Given the description of an element on the screen output the (x, y) to click on. 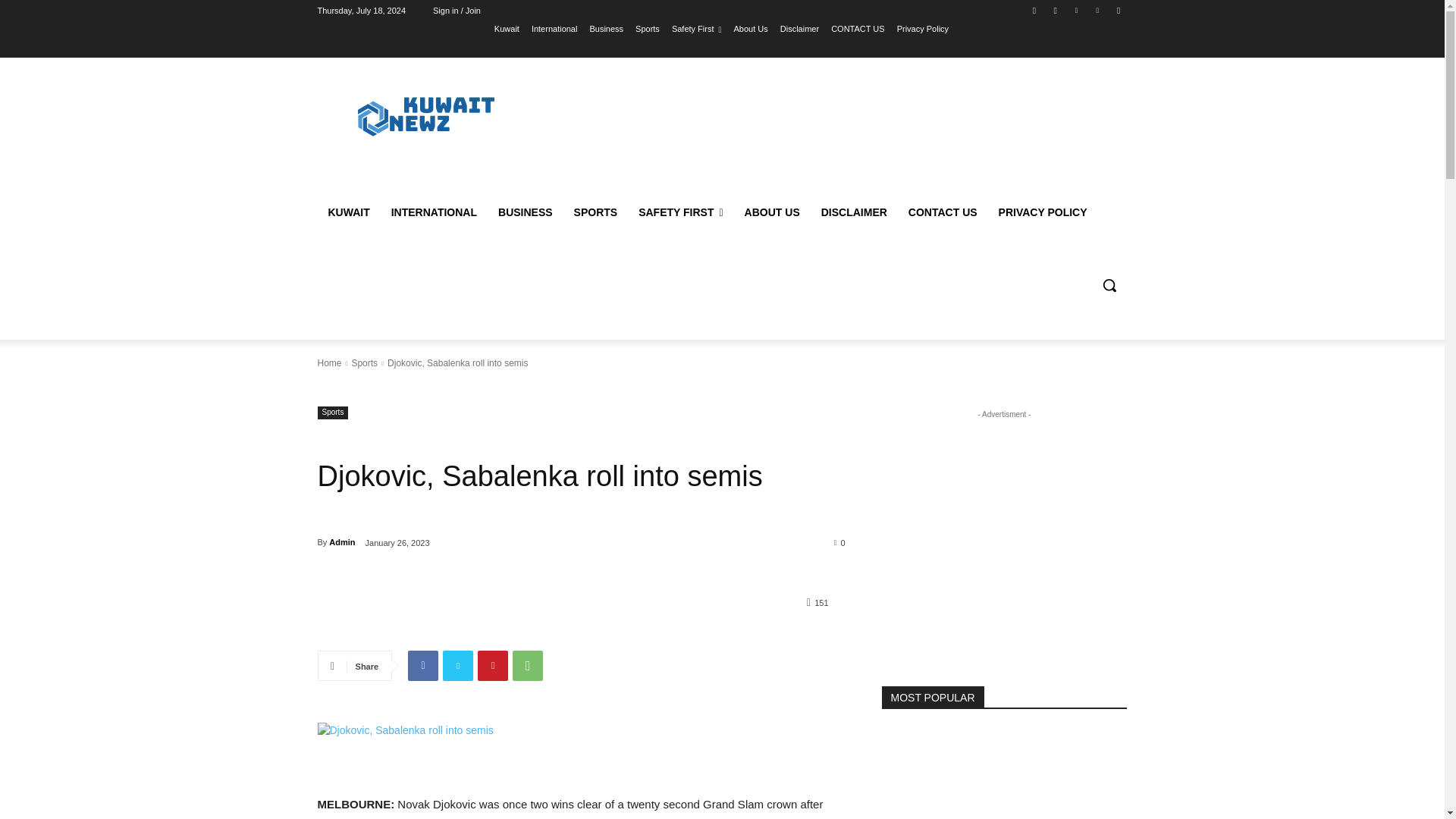
Facebook (422, 665)
Facebook (1034, 9)
Advertisement (846, 131)
Safety First (696, 28)
Privacy Policy (922, 28)
About Us (750, 28)
CONTACT US (858, 28)
Business (606, 28)
Sports (646, 28)
Twitter (1075, 9)
Twitter (457, 665)
Youtube (1117, 9)
Disclaimer (799, 28)
Instagram (1055, 9)
International (554, 28)
